Given the description of an element on the screen output the (x, y) to click on. 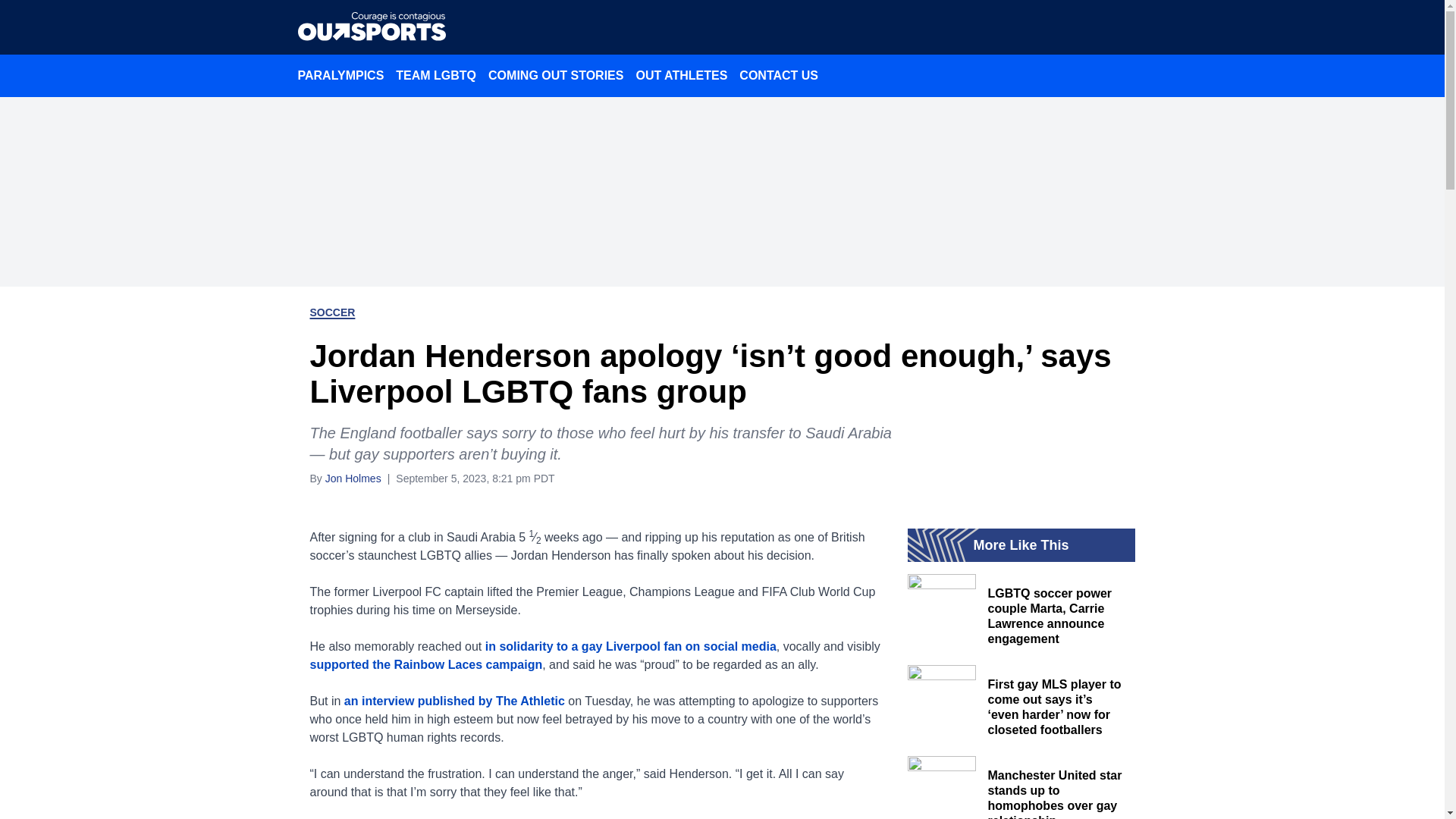
COMING OUT STORIES (554, 75)
OUT ATHLETES (680, 75)
SOCCER (331, 312)
supported the Rainbow Laces campaign (424, 664)
TEAM LGBTQ (435, 75)
CONTACT US (778, 75)
an interview published by The Athletic (453, 700)
in solidarity to a gay Liverpool fan on social media (630, 645)
PARALYMPICS (340, 75)
